Given the description of an element on the screen output the (x, y) to click on. 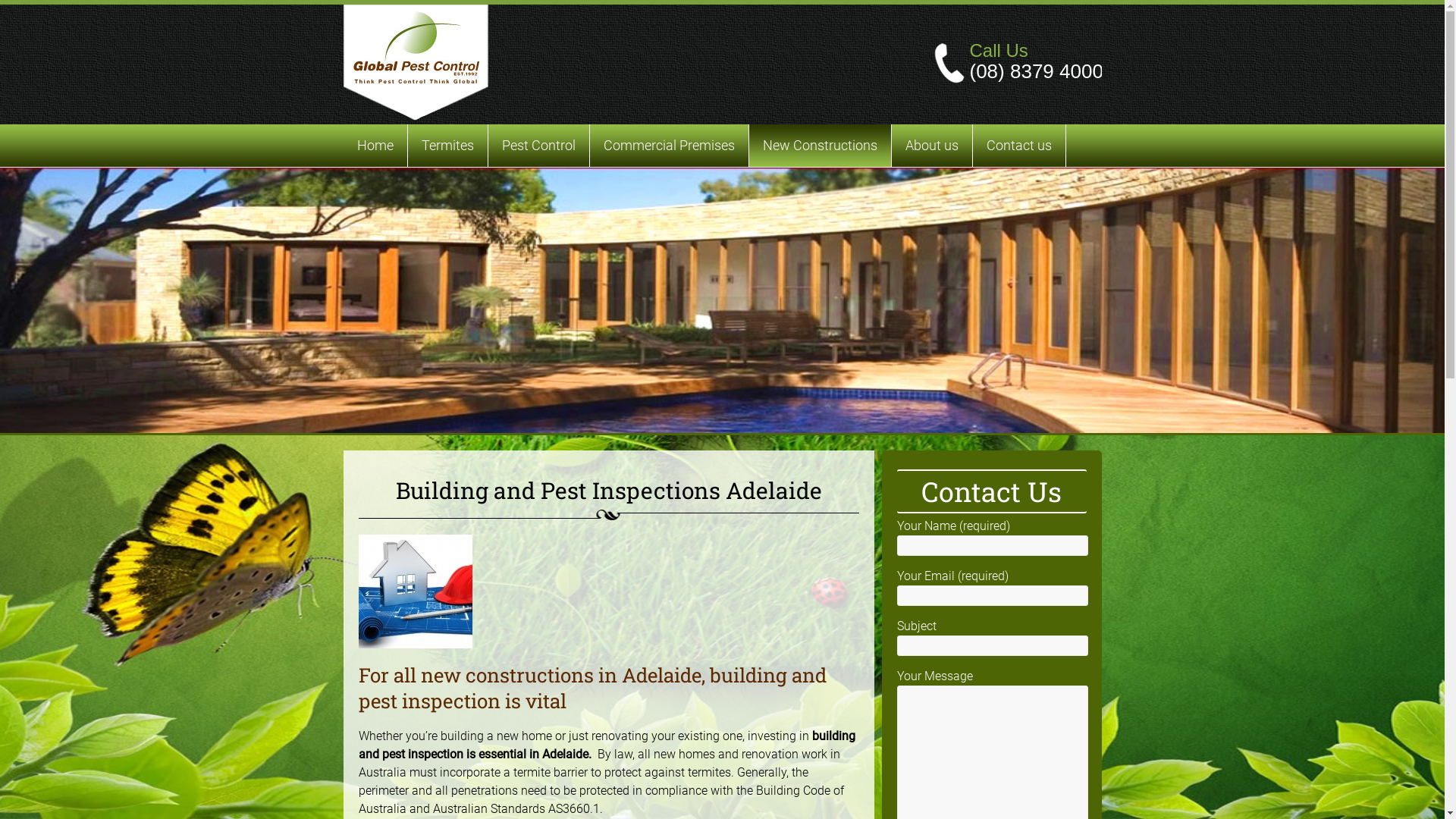
(08) 8379 4000 Element type: text (1035, 70)
Building and Pest Inspections Adelaide Element type: hover (722, 300)
Home Element type: text (374, 145)
About us Element type: text (931, 145)
Termites Element type: text (447, 145)
Contact us Element type: text (1018, 145)
Commercial Premises Element type: text (668, 145)
New Constructions Element type: text (820, 145)
Pest Control Element type: text (538, 145)
